Given the description of an element on the screen output the (x, y) to click on. 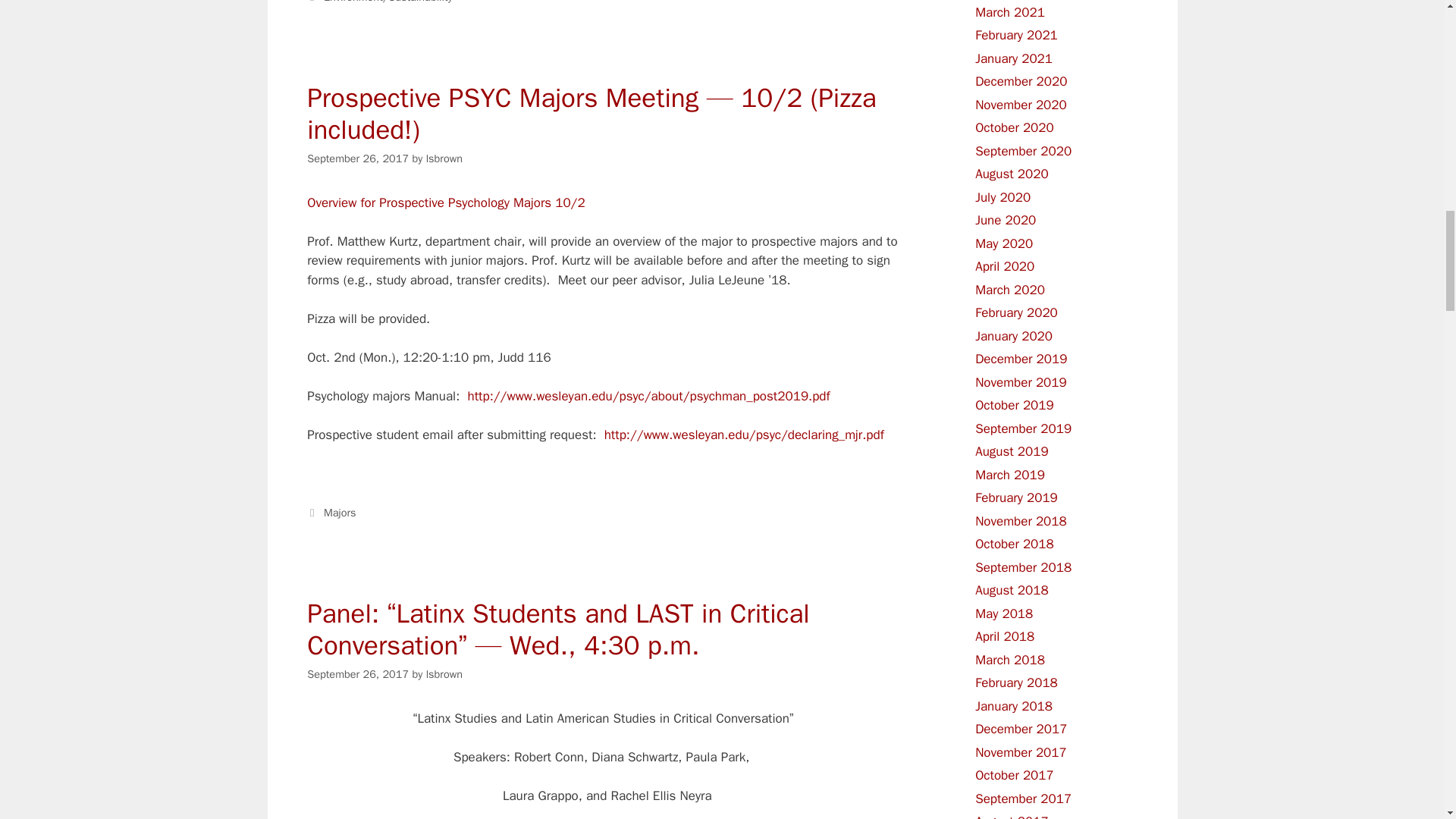
View all posts by lsbrown (444, 158)
View all posts by lsbrown (444, 673)
lsbrown (444, 158)
